Given the description of an element on the screen output the (x, y) to click on. 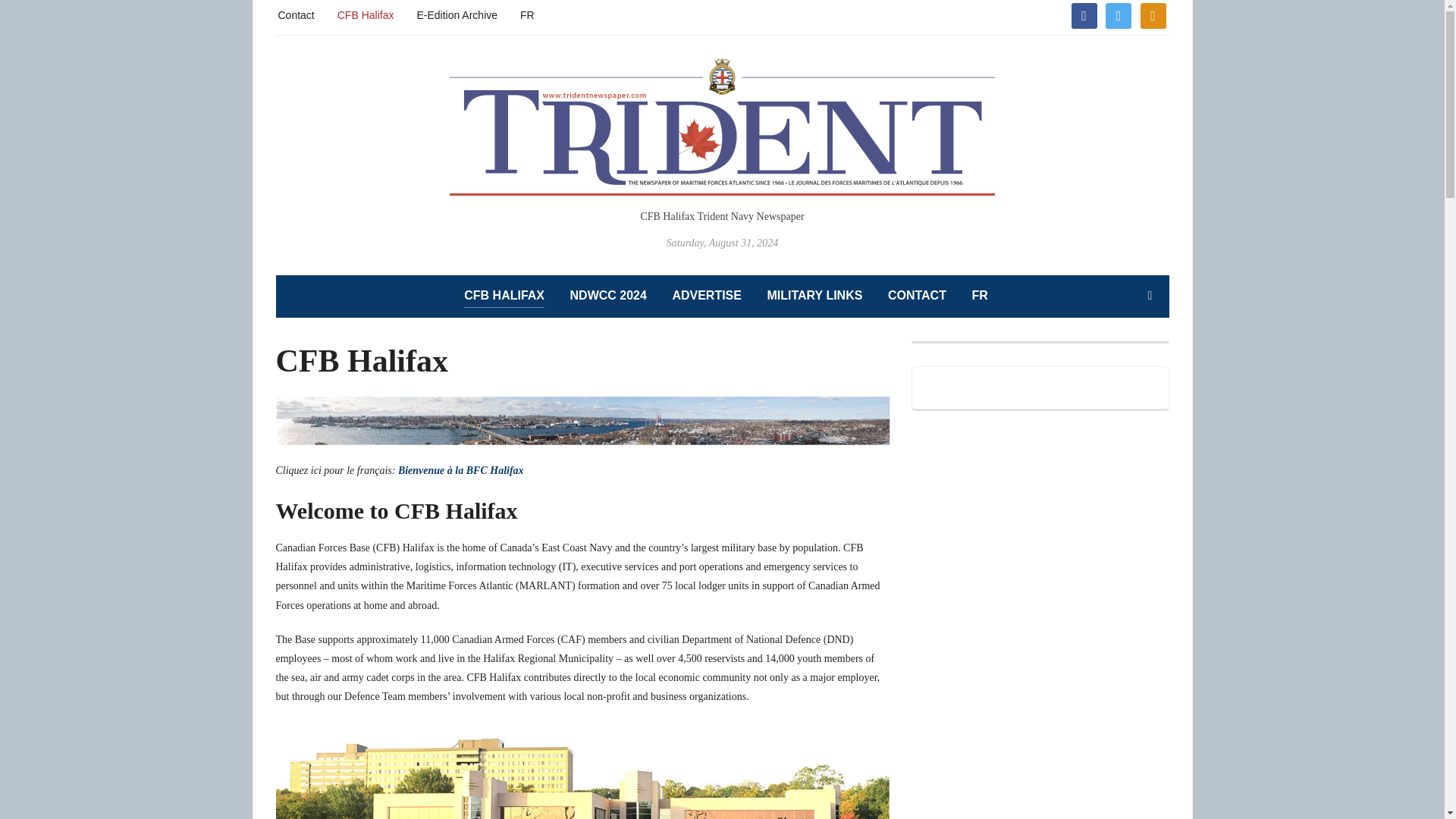
Contact (296, 14)
twitter (1118, 14)
Friend me on Facebook (1083, 14)
CFB Halifax (365, 14)
rss (1153, 14)
Follow Me (1118, 14)
E-Edition Archive (456, 14)
facebook (1083, 14)
